Given the description of an element on the screen output the (x, y) to click on. 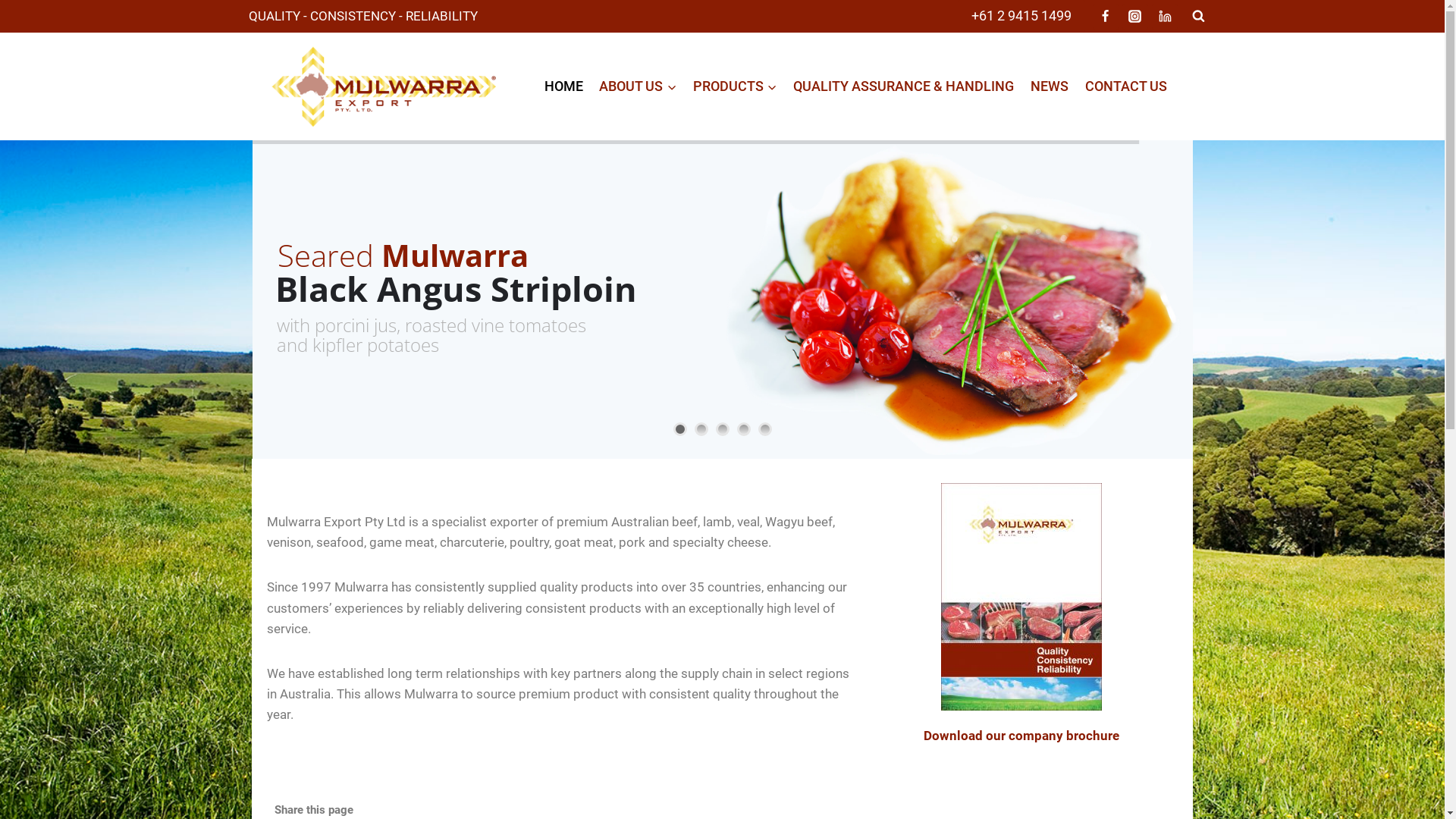
NEWS Element type: text (1049, 86)
ABOUT US Element type: text (637, 86)
+61 2 9415 1499 Element type: text (1021, 16)
QUALITY ASSURANCE & HANDLING Element type: text (903, 86)
PRODUCTS Element type: text (734, 86)
HOME Element type: text (563, 86)
Download our company brochure Element type: text (1021, 735)
CONTACT US Element type: text (1125, 86)
